Given the description of an element on the screen output the (x, y) to click on. 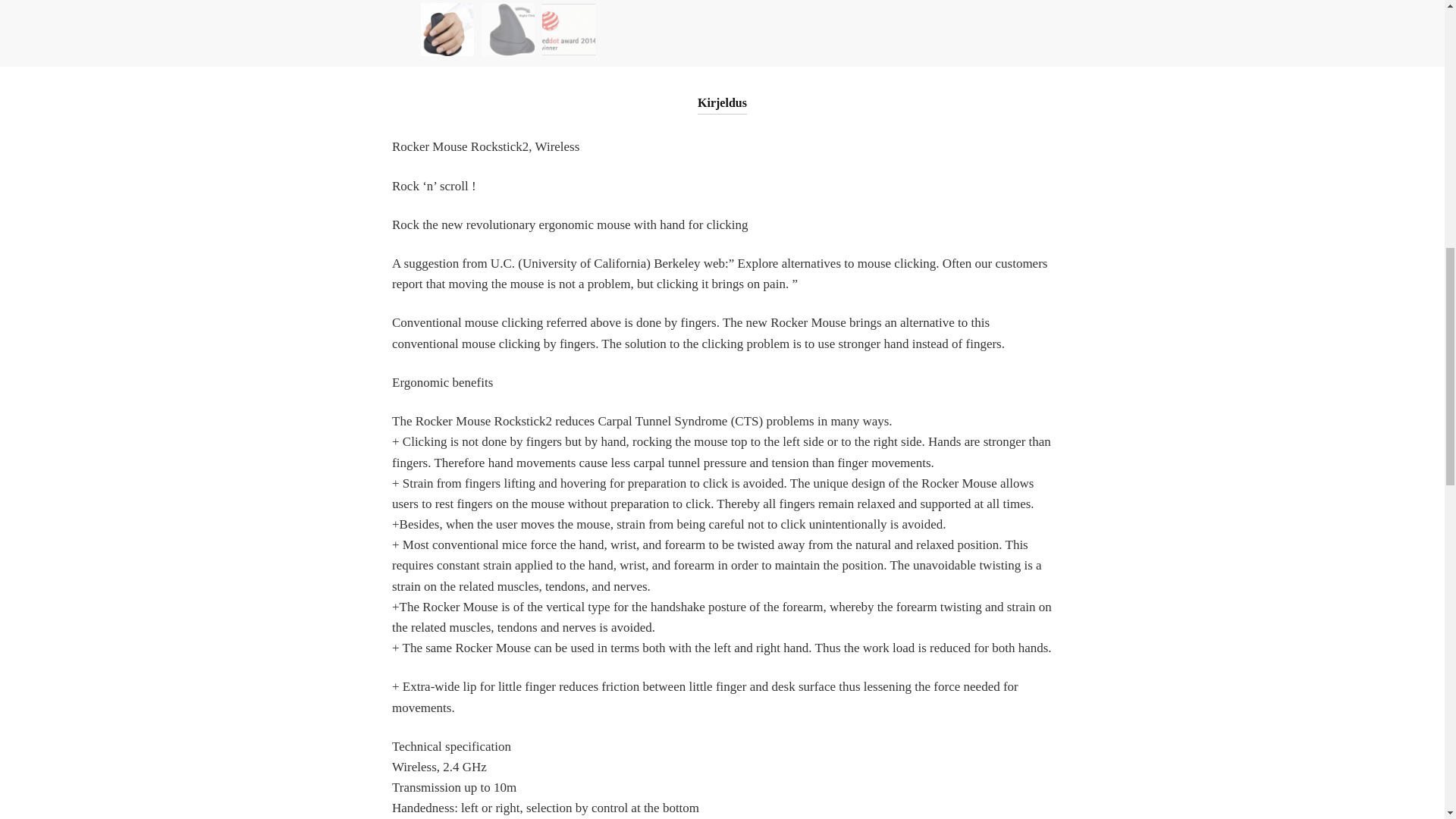
Kirjeldus (721, 90)
